Given the description of an element on the screen output the (x, y) to click on. 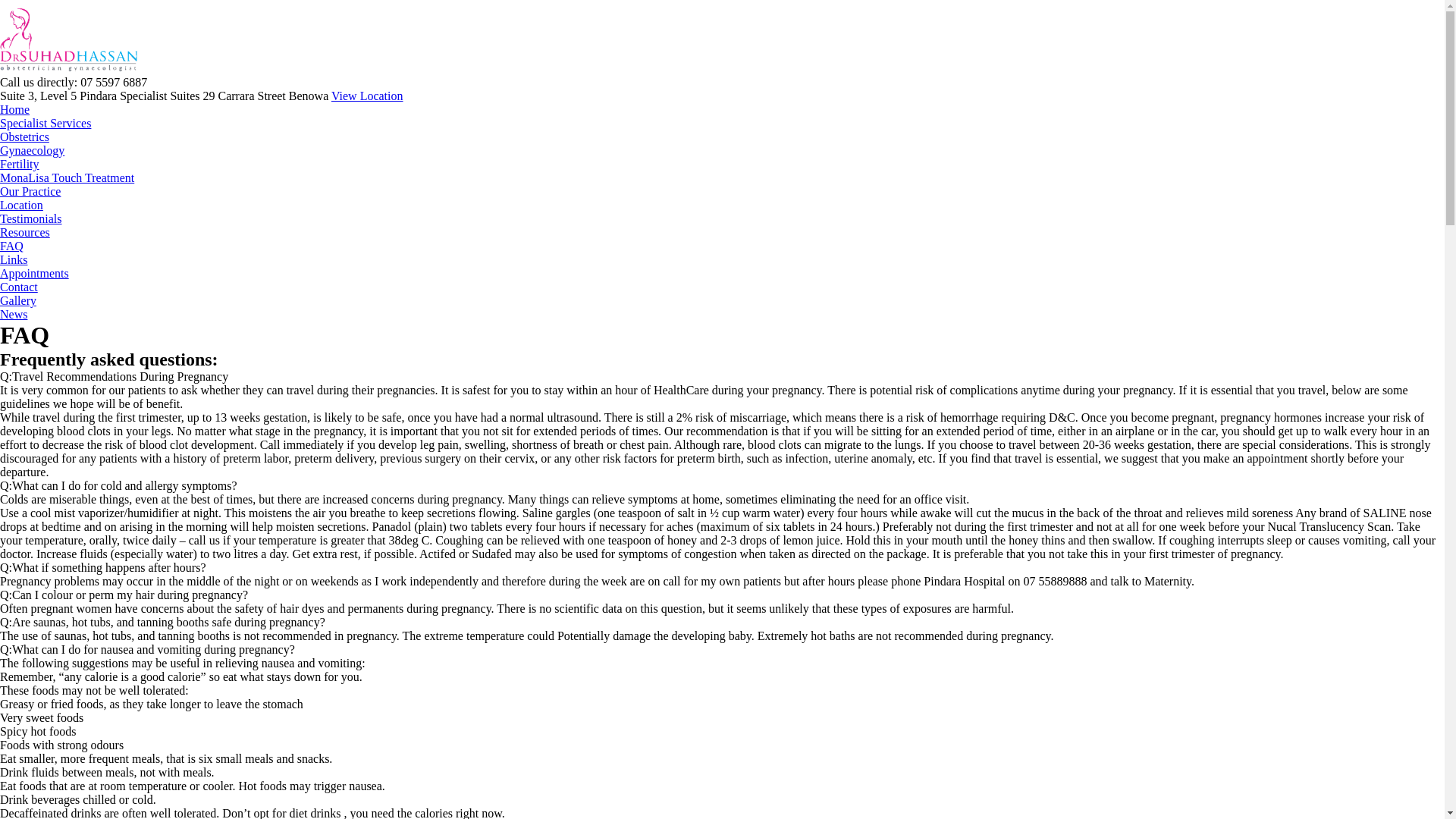
View Location Element type: text (367, 95)
Contact Element type: text (18, 286)
Fertility Element type: text (19, 163)
Links Element type: text (13, 259)
Home Element type: text (14, 109)
MonaLisa Touch Treatment Element type: text (67, 177)
Appointments Element type: text (34, 272)
Location Element type: text (21, 204)
Gynaecology Element type: text (32, 150)
Resources Element type: text (25, 231)
Gallery Element type: text (18, 300)
Obstetrics Element type: text (24, 136)
Specialist Services Element type: text (45, 122)
FAQ Element type: text (11, 245)
News Element type: text (13, 313)
Our Practice Element type: text (30, 191)
Testimonials Element type: text (31, 218)
Obstetrician | Gynaecologist Element type: hover (73, 71)
